Given the description of an element on the screen output the (x, y) to click on. 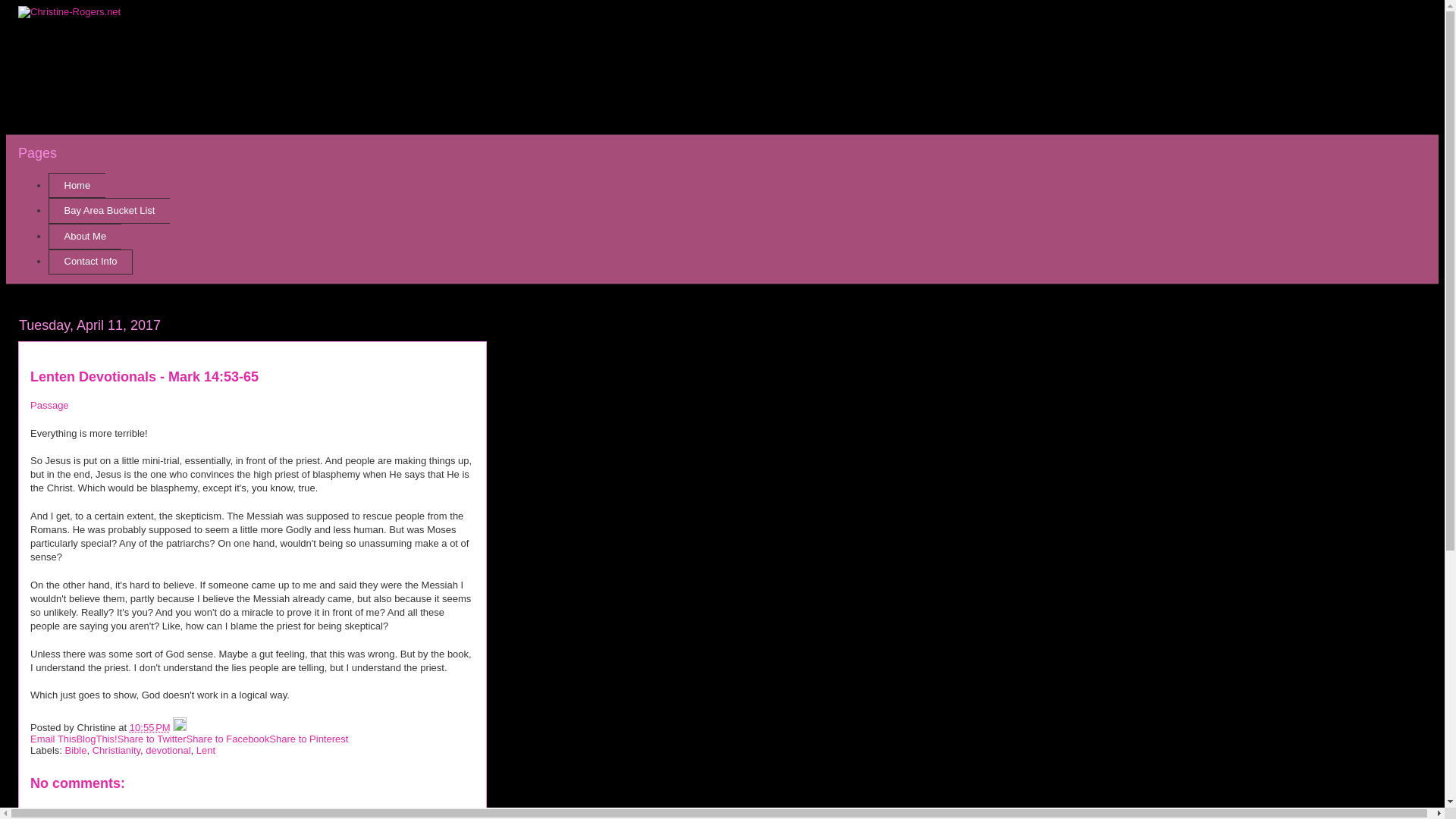
Christianity (116, 749)
Edit Post (179, 727)
About Me (84, 236)
permanent link (149, 727)
Home (76, 185)
Lent (205, 749)
Share to Facebook (227, 738)
BlogThis! (95, 738)
Share to Facebook (227, 738)
Share to Pinterest (308, 738)
